Given the description of an element on the screen output the (x, y) to click on. 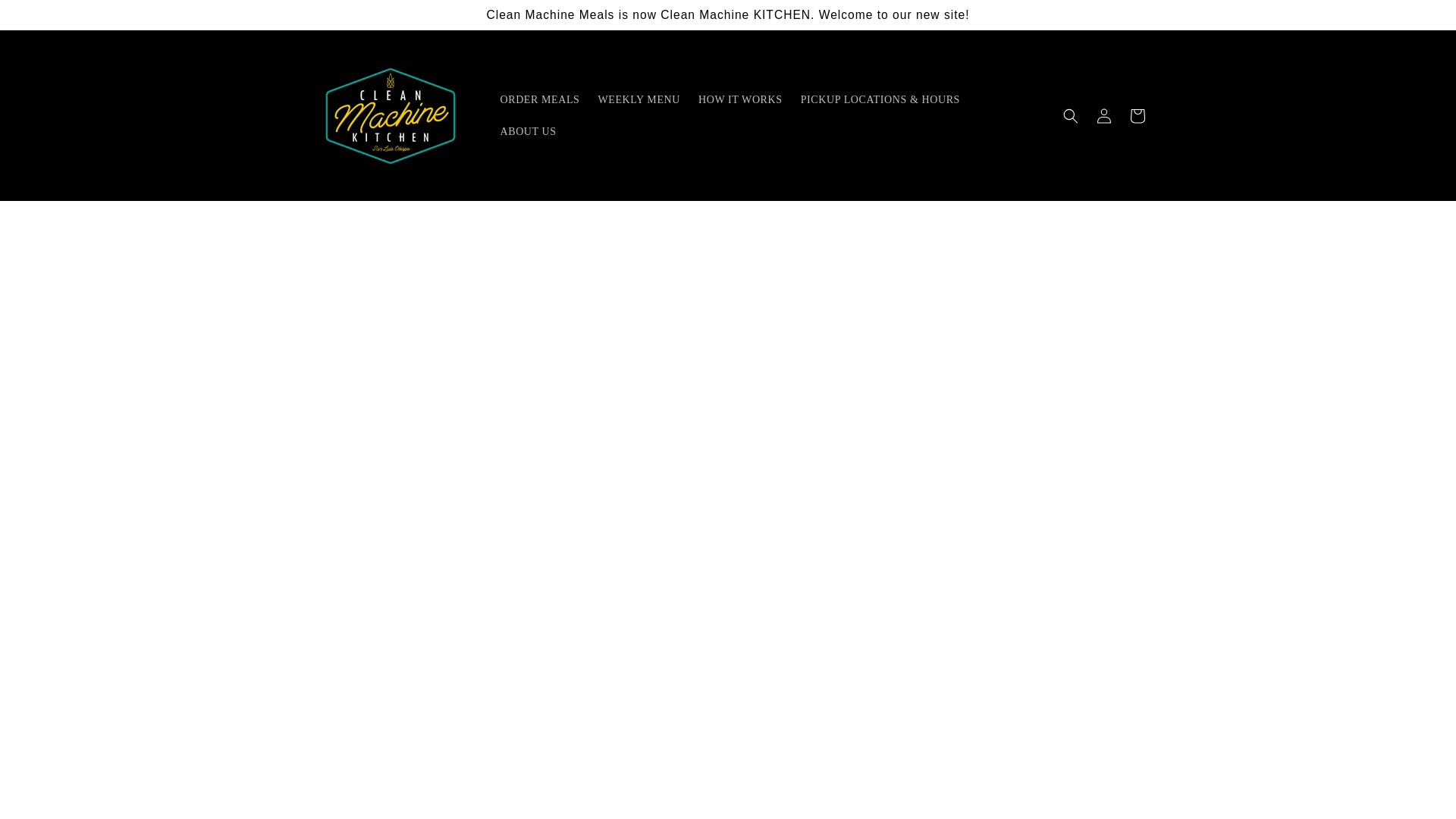
HOW IT WORKS (740, 100)
ORDER MEALS (540, 100)
Cart (1137, 115)
Log in (1104, 115)
ABOUT US (529, 132)
WEEKLY MENU (638, 100)
Skip to content (45, 16)
